Given the description of an element on the screen output the (x, y) to click on. 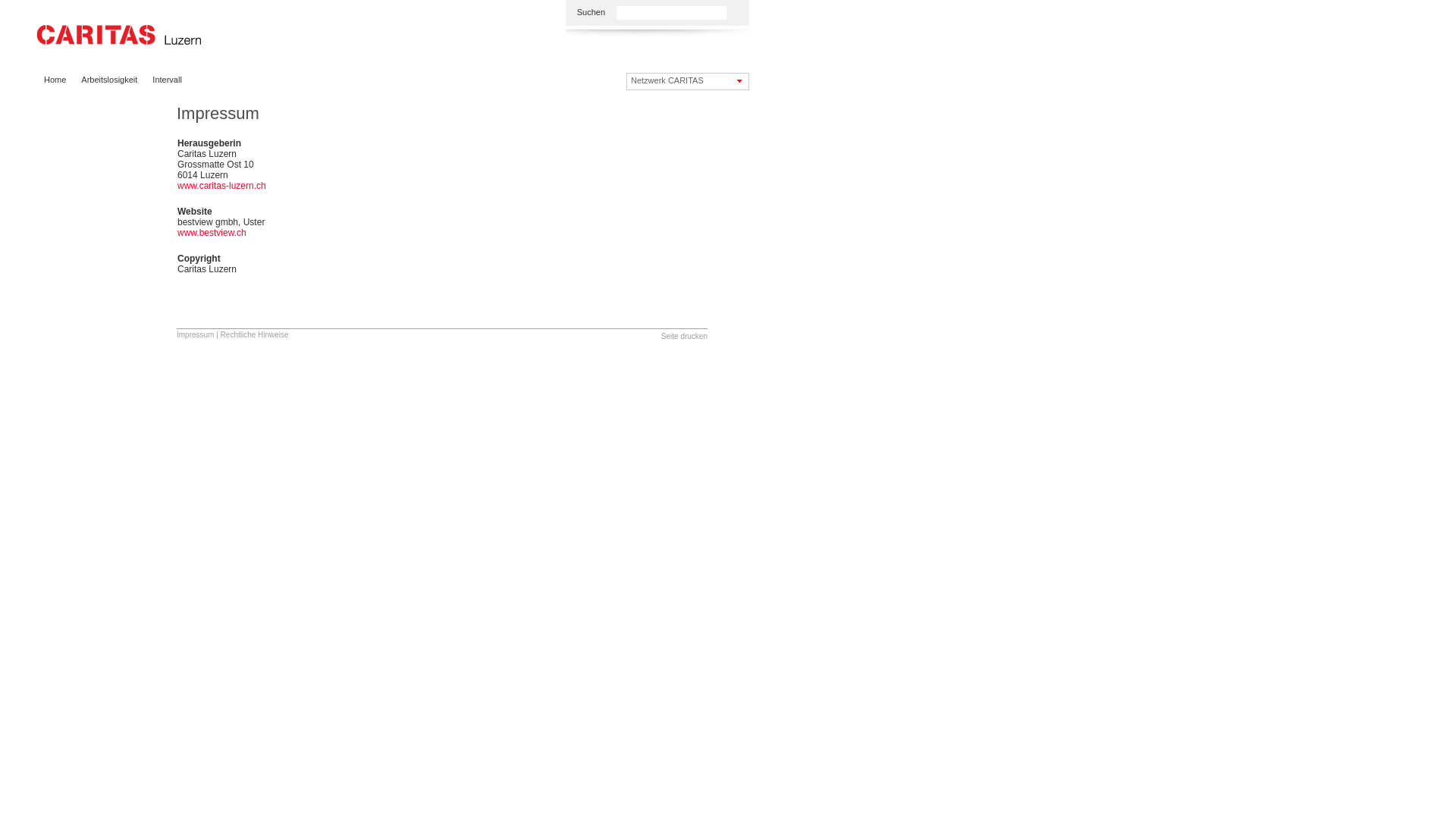
Seite drucken Element type: text (684, 336)
www.bestview.ch Element type: text (211, 232)
Arbeitslosigkeit Element type: text (108, 79)
Caritas Arbeit Luzern Element type: hover (118, 35)
www.caritas-luzern.ch Element type: text (221, 185)
Rechtliche Hinweise Element type: text (254, 334)
Home Element type: text (54, 79)
Intervall Element type: text (166, 79)
Impressum Element type: text (194, 334)
